Given the description of an element on the screen output the (x, y) to click on. 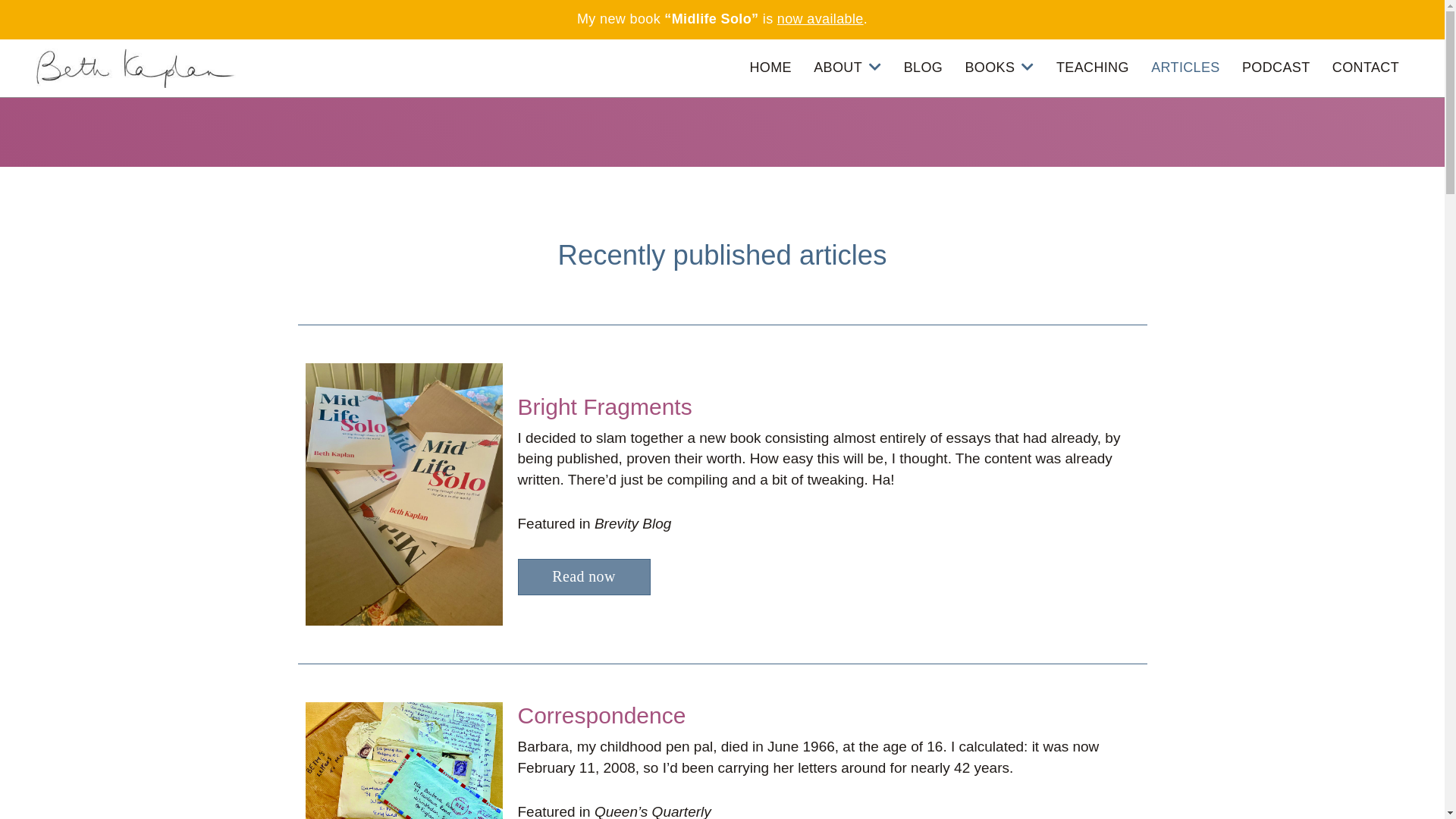
now available Element type: text (820, 18)
ARTICLES Element type: text (1185, 68)
ABOUT Element type: text (847, 67)
HOME Element type: text (770, 68)
Read now Element type: text (583, 576)
TEACHING Element type: text (1092, 68)
CONTACT Element type: text (1365, 68)
PODCAST Element type: text (1276, 68)
BOOKS Element type: text (998, 67)
BLOG Element type: text (922, 68)
